Given the description of an element on the screen output the (x, y) to click on. 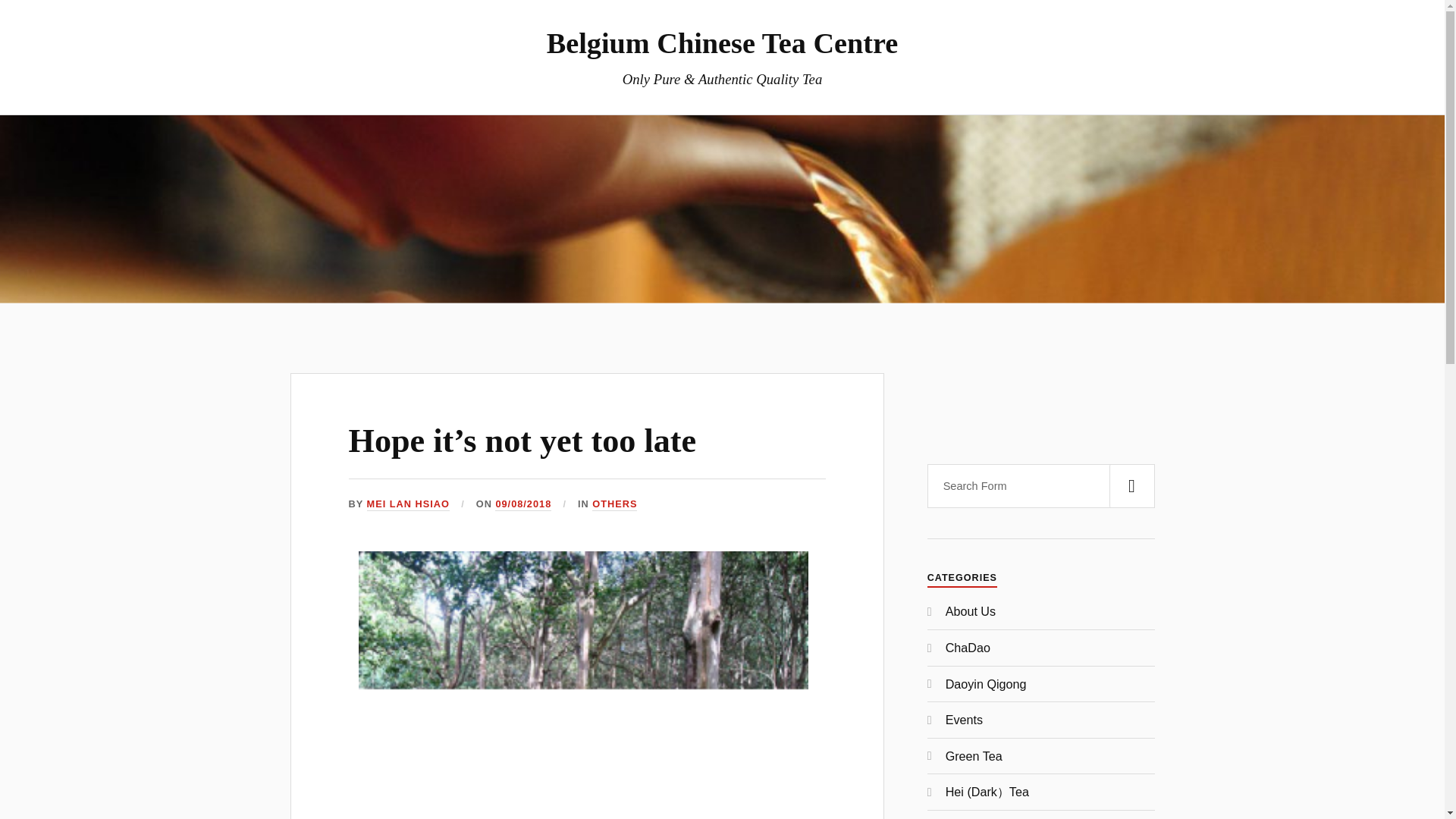
Events (963, 719)
About Us (969, 611)
Posts by Mei Lan Hsiao (407, 504)
MEI LAN HSIAO (407, 504)
OTHERS (614, 504)
ChaDao (967, 647)
Belgium Chinese Tea Centre (722, 42)
Green Tea (973, 755)
Daoyin Qigong (985, 683)
